Given the description of an element on the screen output the (x, y) to click on. 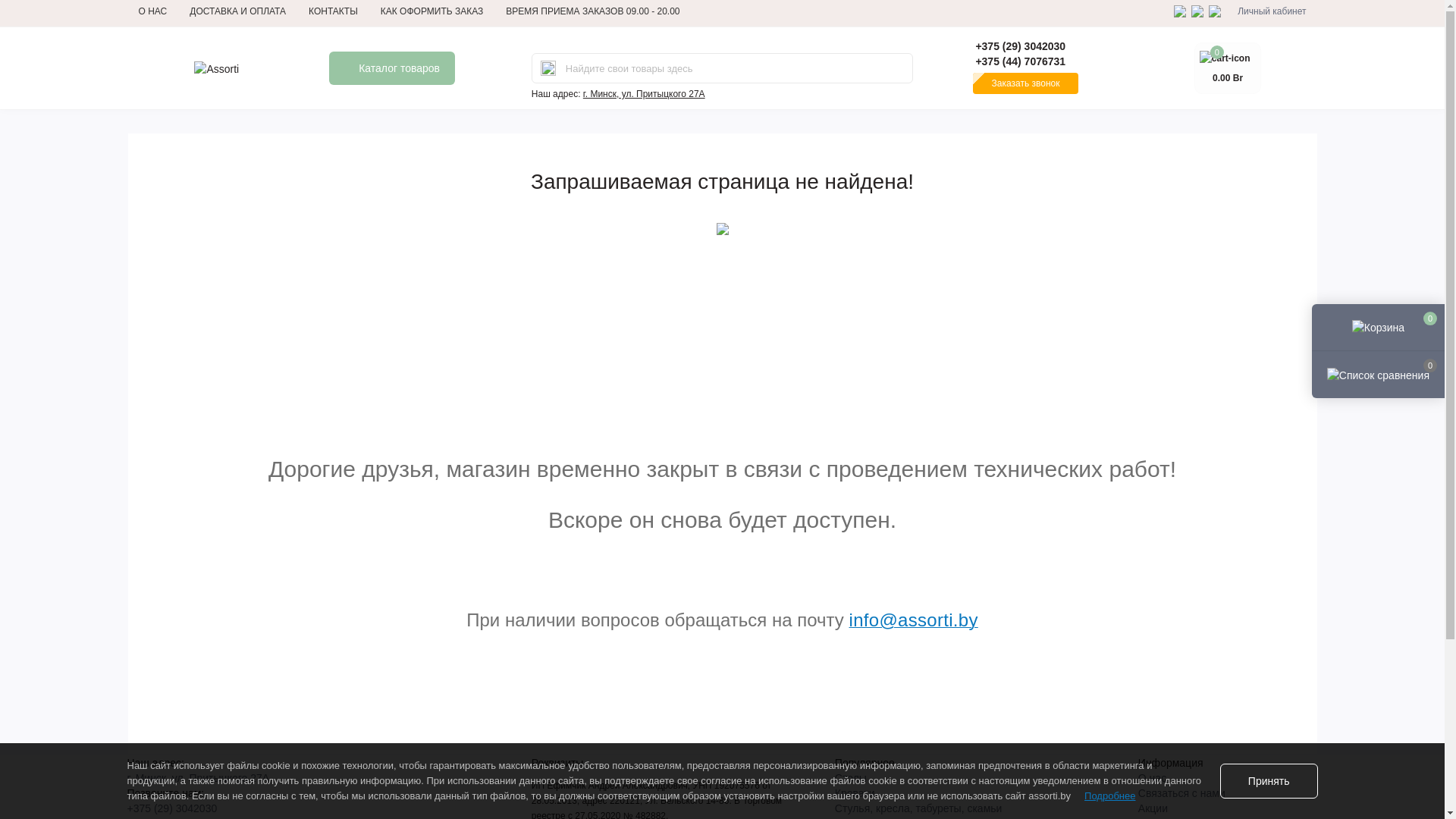
0 Element type: text (1377, 327)
+375 (29) 3042030 Element type: text (172, 807)
0 Element type: text (1377, 373)
Assorti Element type: hover (216, 68)
+375 (44) 7076731 Element type: text (1025, 61)
info@assorti.by Element type: text (913, 623)
0
0.00 Br Element type: text (1227, 68)
+375 (29) 3042030 Element type: text (1025, 45)
